Given the description of an element on the screen output the (x, y) to click on. 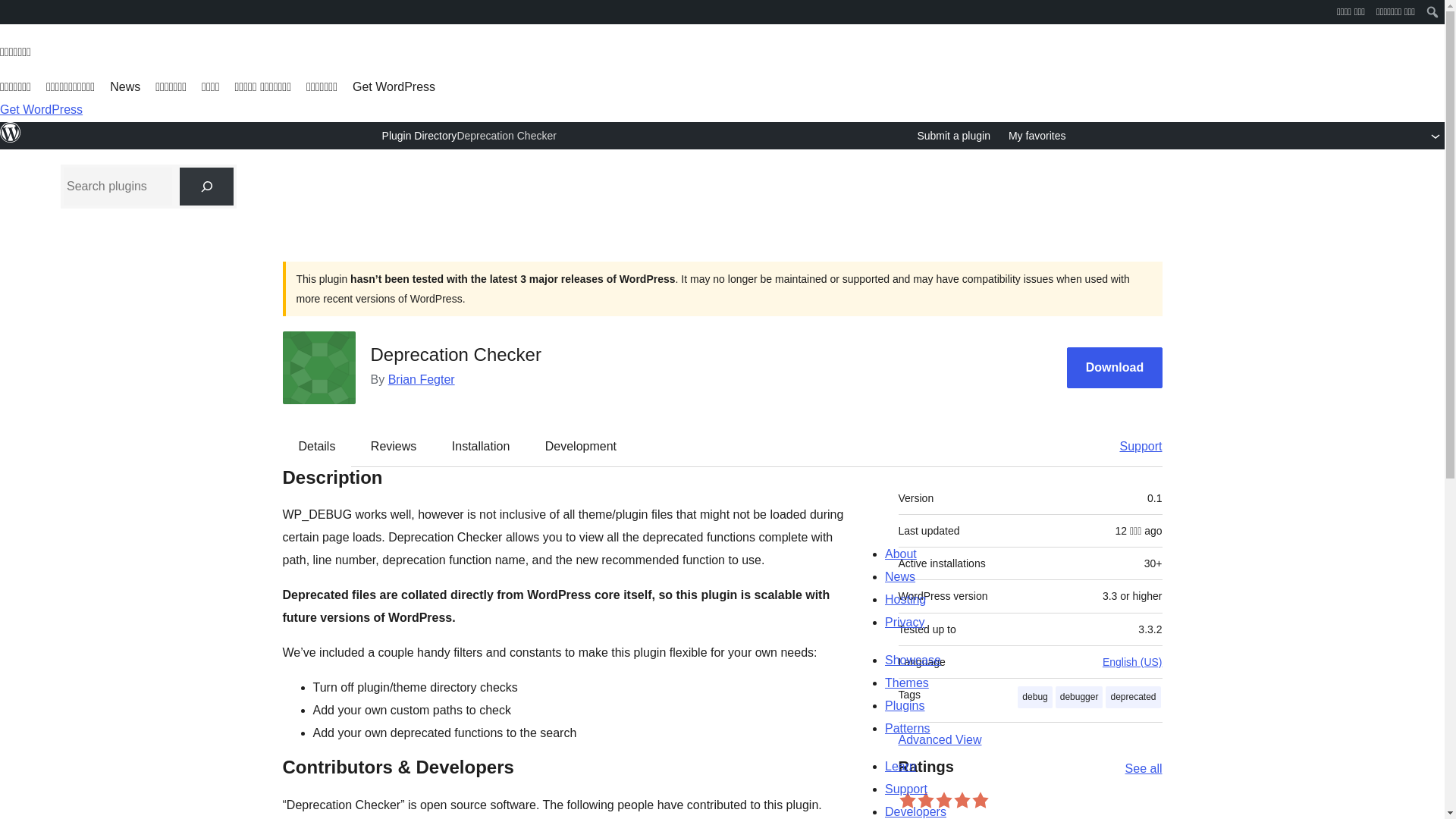
Installation (480, 446)
Support (1132, 446)
WordPress.org (10, 16)
Development (580, 446)
Download (1114, 368)
Reviews (392, 446)
WordPress.org (10, 139)
My favorites (1037, 135)
WordPress.org (10, 132)
Deprecation Checker (506, 135)
